Given the description of an element on the screen output the (x, y) to click on. 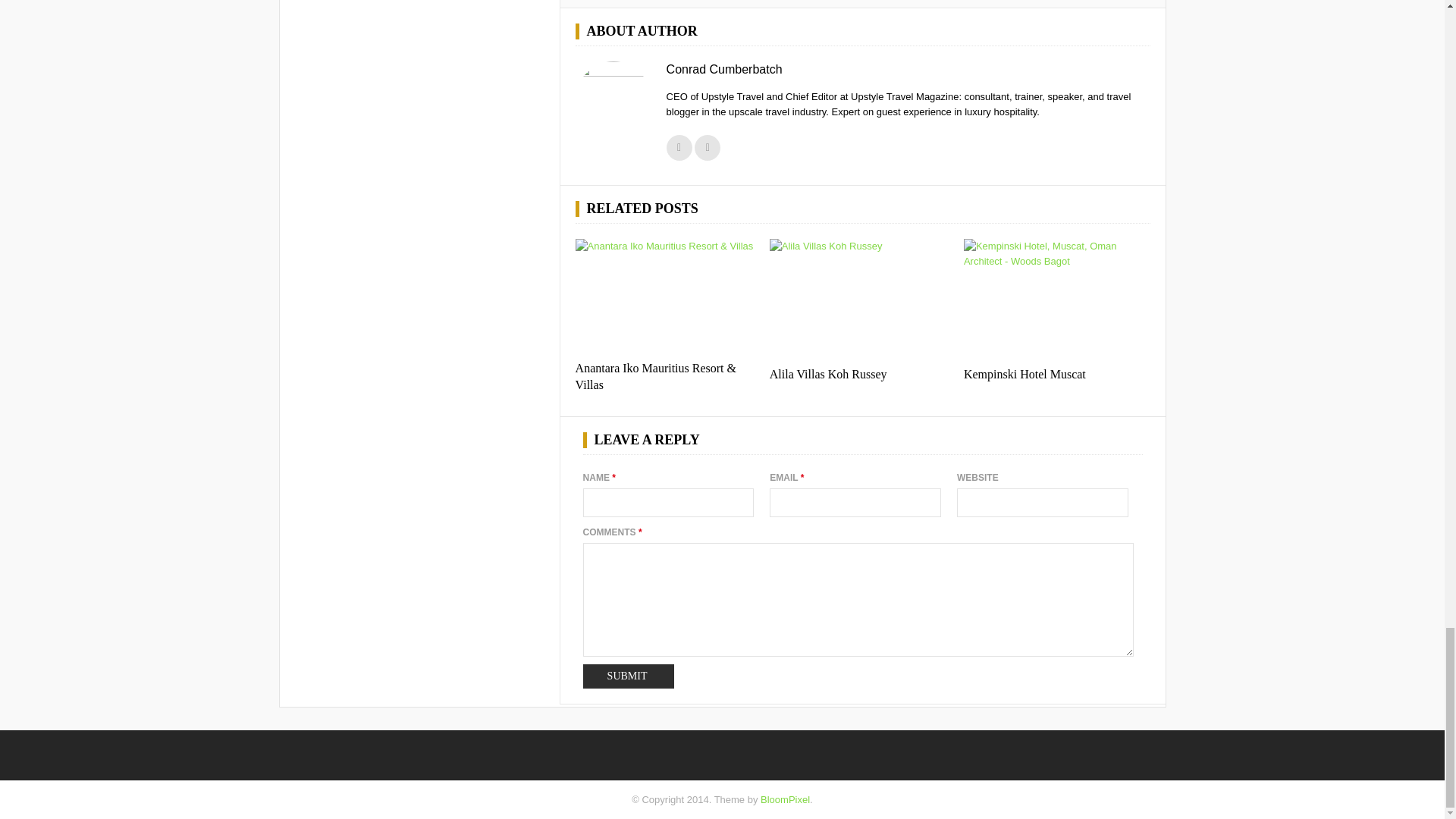
Submit  (628, 676)
Kempinski Hotel Muscat (1024, 373)
Kempinski Hotel Muscat (1024, 373)
Alila Villas Koh Russey (863, 301)
Submit  (628, 676)
Alila Villas Koh Russey (828, 373)
Alila Villas Koh Russey (828, 373)
Kempinski Hotel Muscat (1056, 301)
